Given the description of an element on the screen output the (x, y) to click on. 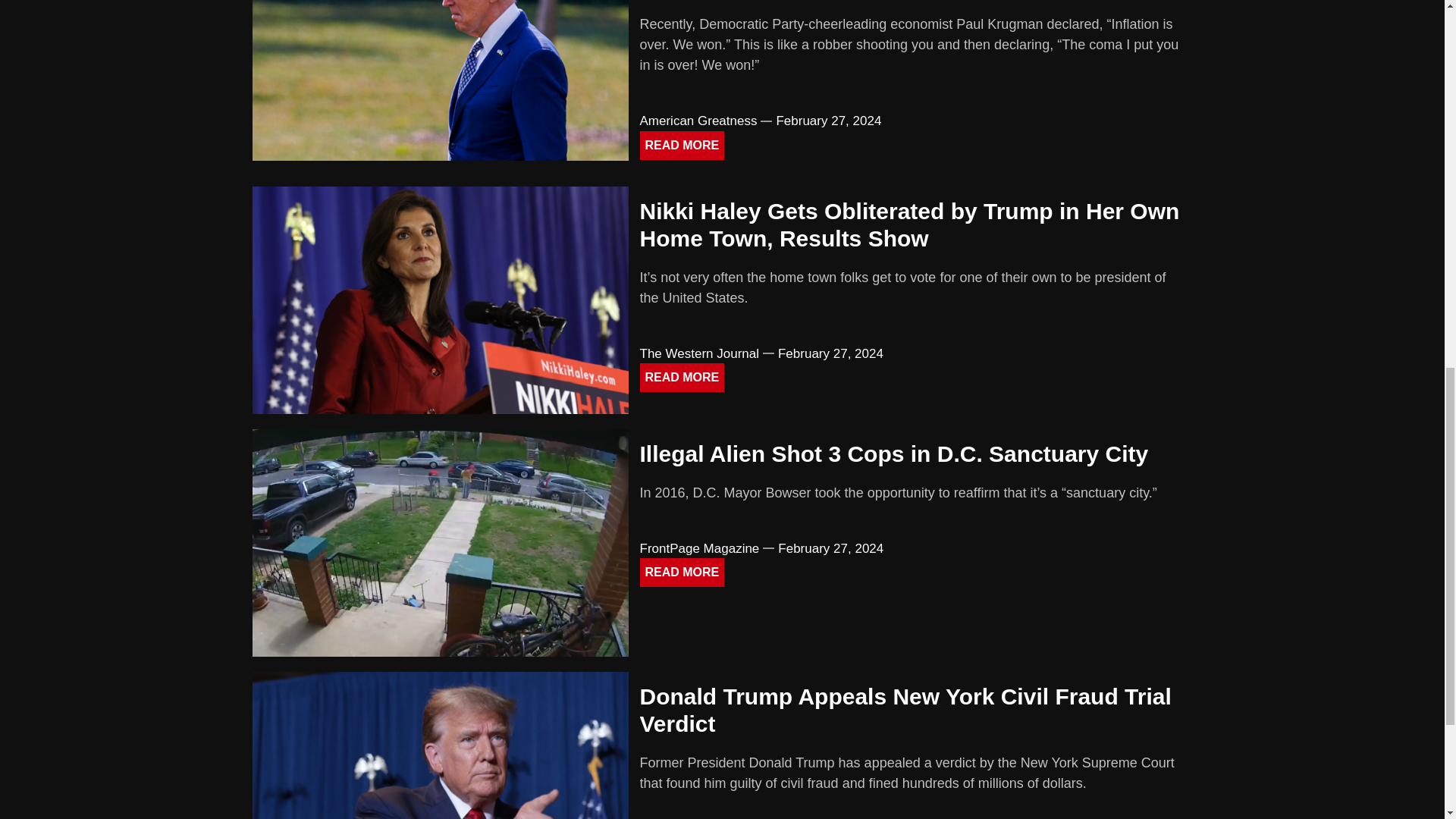
The Western Journal (699, 353)
FrontPage Magazine (700, 548)
Donald Trump Appeals New York Civil Fraud Trial Verdict (906, 709)
February 27, 2024 (830, 353)
READ MORE (682, 572)
READ MORE (682, 377)
Illegal Alien Shot 3 Cops in D.C. Sanctuary City (894, 453)
February 27, 2024 (828, 120)
American Greatness (698, 120)
Illegal Alien Shot 3 Cops in D.C. Sanctuary City (894, 453)
Donald Trump Appeals New York Civil Fraud Trial Verdict (906, 709)
February 27, 2024 (830, 548)
READ MORE (682, 145)
